Given the description of an element on the screen output the (x, y) to click on. 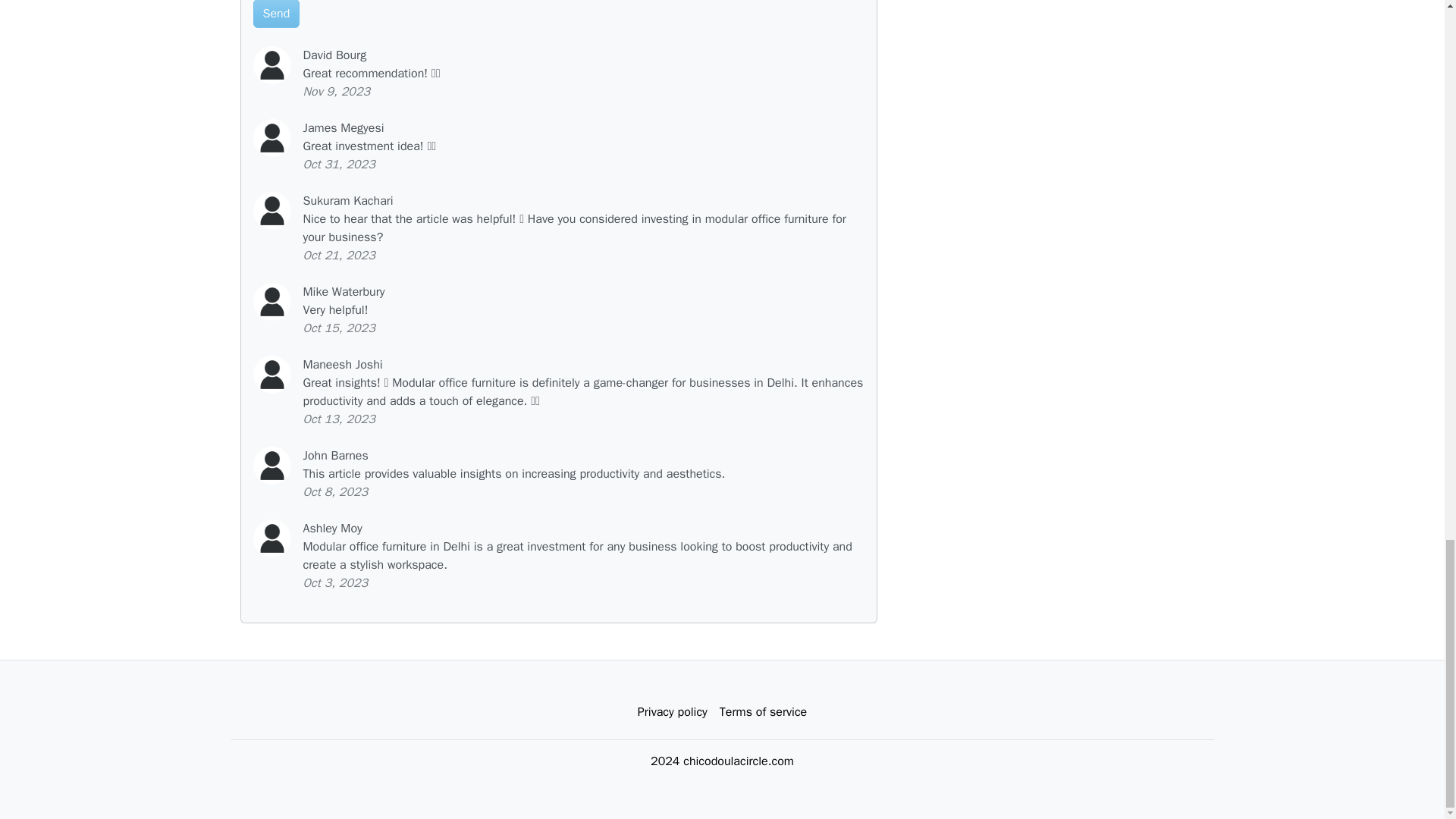
Terms of service (762, 711)
Send (276, 13)
Privacy policy (672, 711)
Send (276, 13)
